Given the description of an element on the screen output the (x, y) to click on. 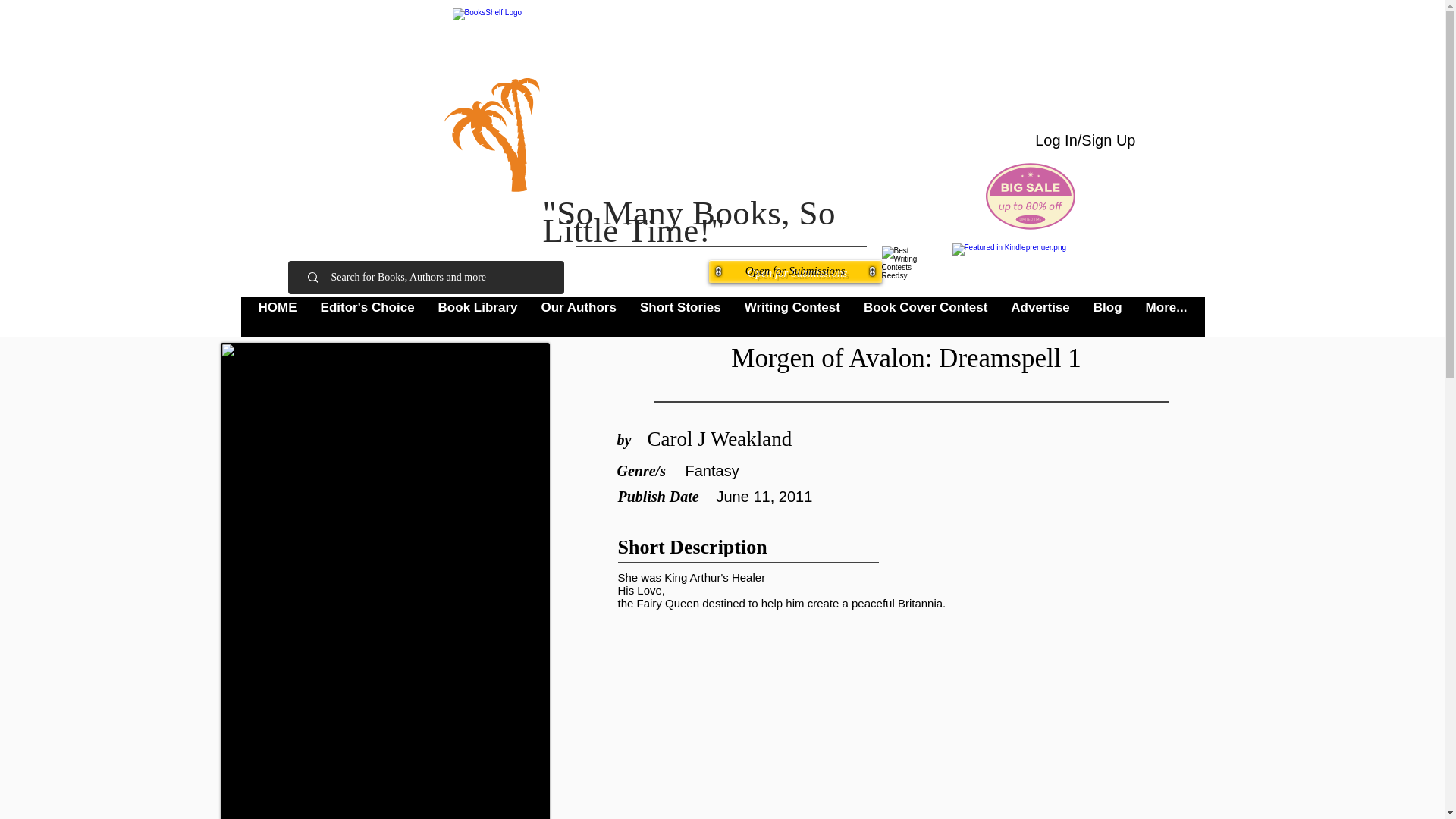
HOME (277, 316)
BooksShelf (705, 104)
Editor's Choice (367, 316)
Short Stories (679, 316)
